Given the description of an element on the screen output the (x, y) to click on. 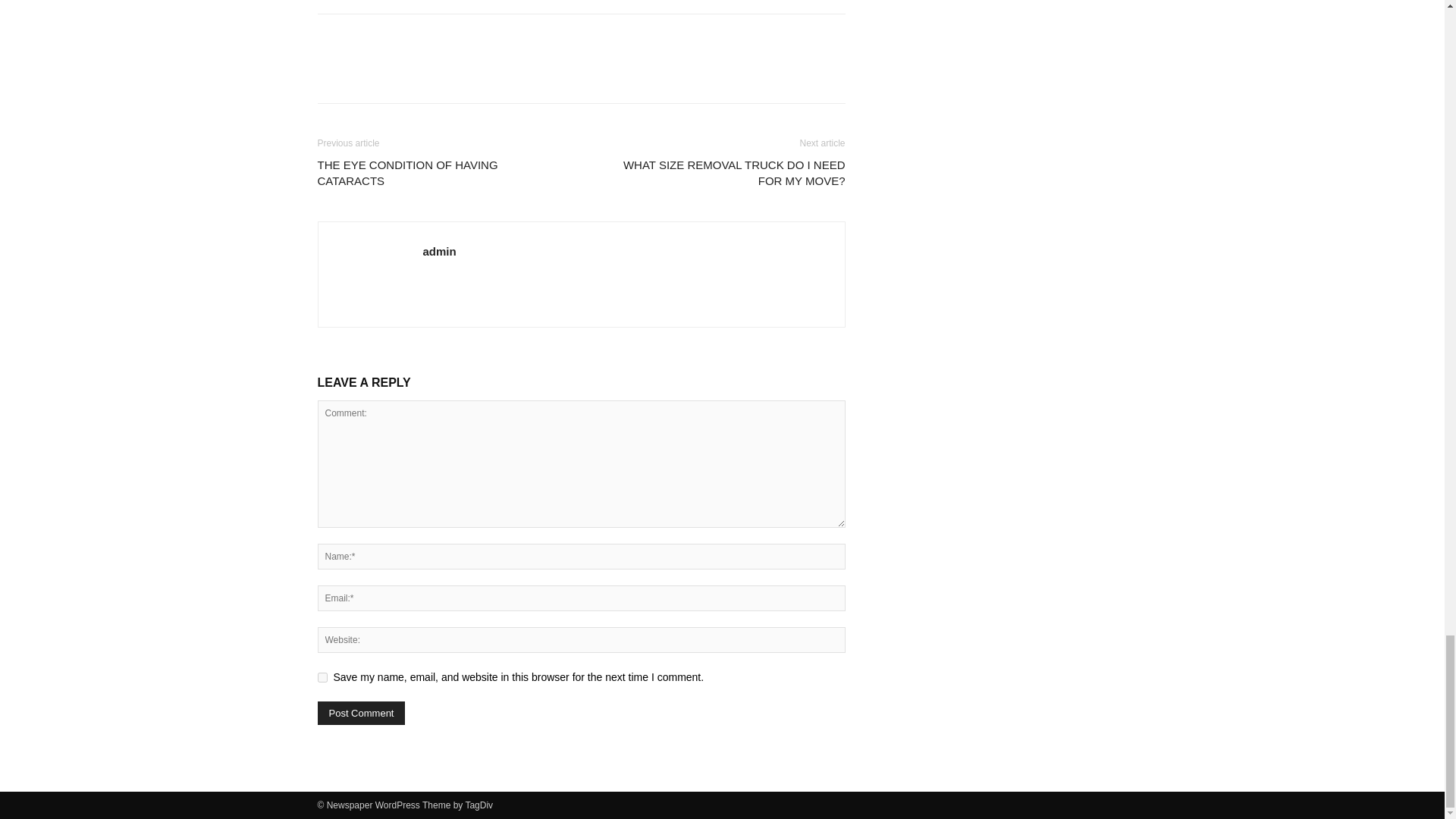
THE EYE CONDITION OF HAVING CATARACTS (439, 173)
yes (321, 677)
admin (440, 250)
WHAT SIZE REMOVAL TRUCK DO I NEED FOR MY MOVE? (721, 173)
Post Comment (360, 712)
bottomFacebookLike (430, 37)
Post Comment (360, 712)
